Given the description of an element on the screen output the (x, y) to click on. 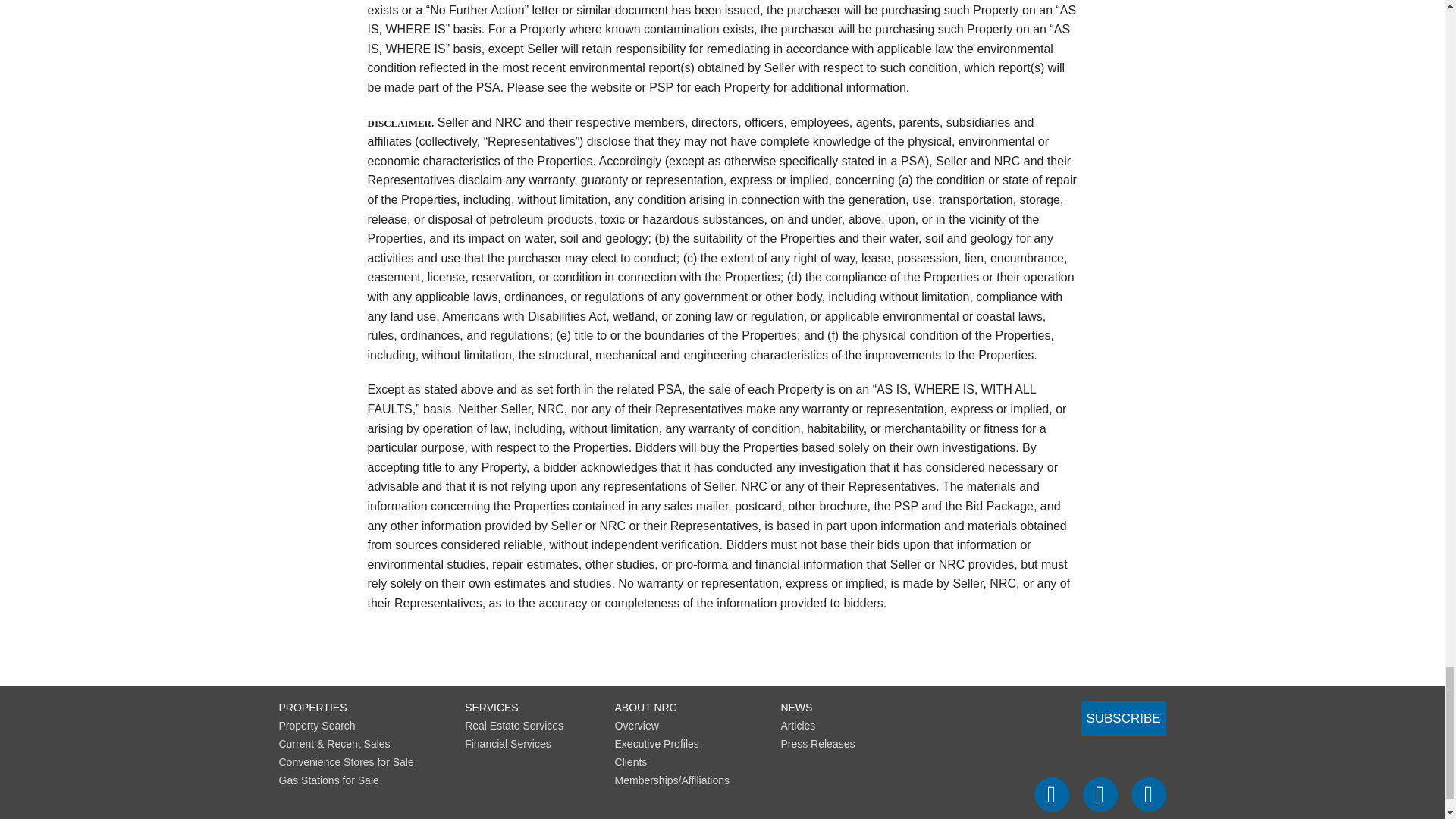
Property Search (317, 725)
Convenience Stores for Sale (346, 761)
NRC Realty on Facebook (1050, 793)
NRC Realty on LinkedIn (1148, 793)
NRC Realty on Twitter (1100, 793)
Click to subscribe to NRC News (1123, 718)
Gas Stations for Sale (328, 779)
SERVICES (491, 706)
PROPERTIES (313, 706)
